Given the description of an element on the screen output the (x, y) to click on. 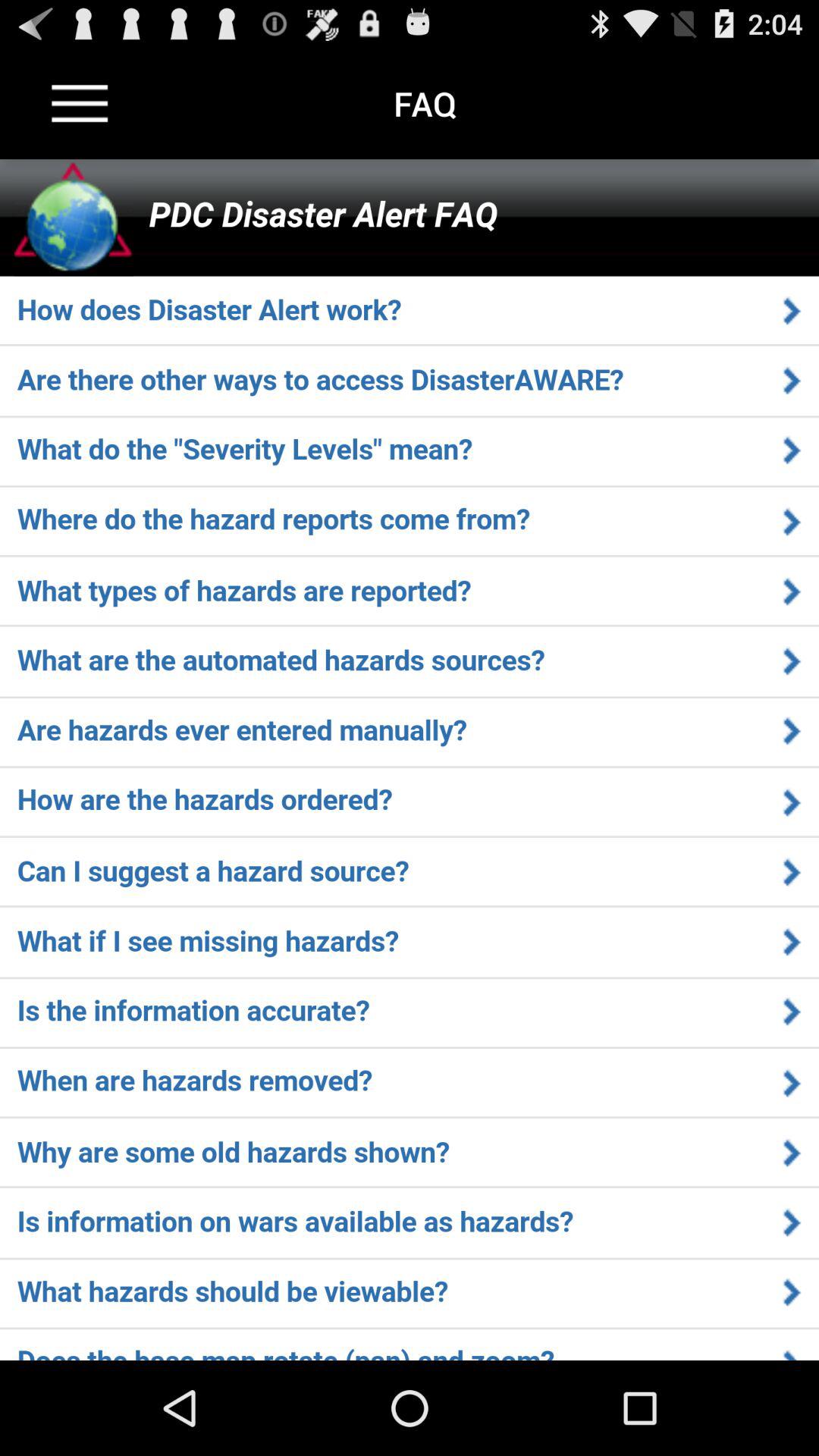
screen page (409, 759)
